Given the description of an element on the screen output the (x, y) to click on. 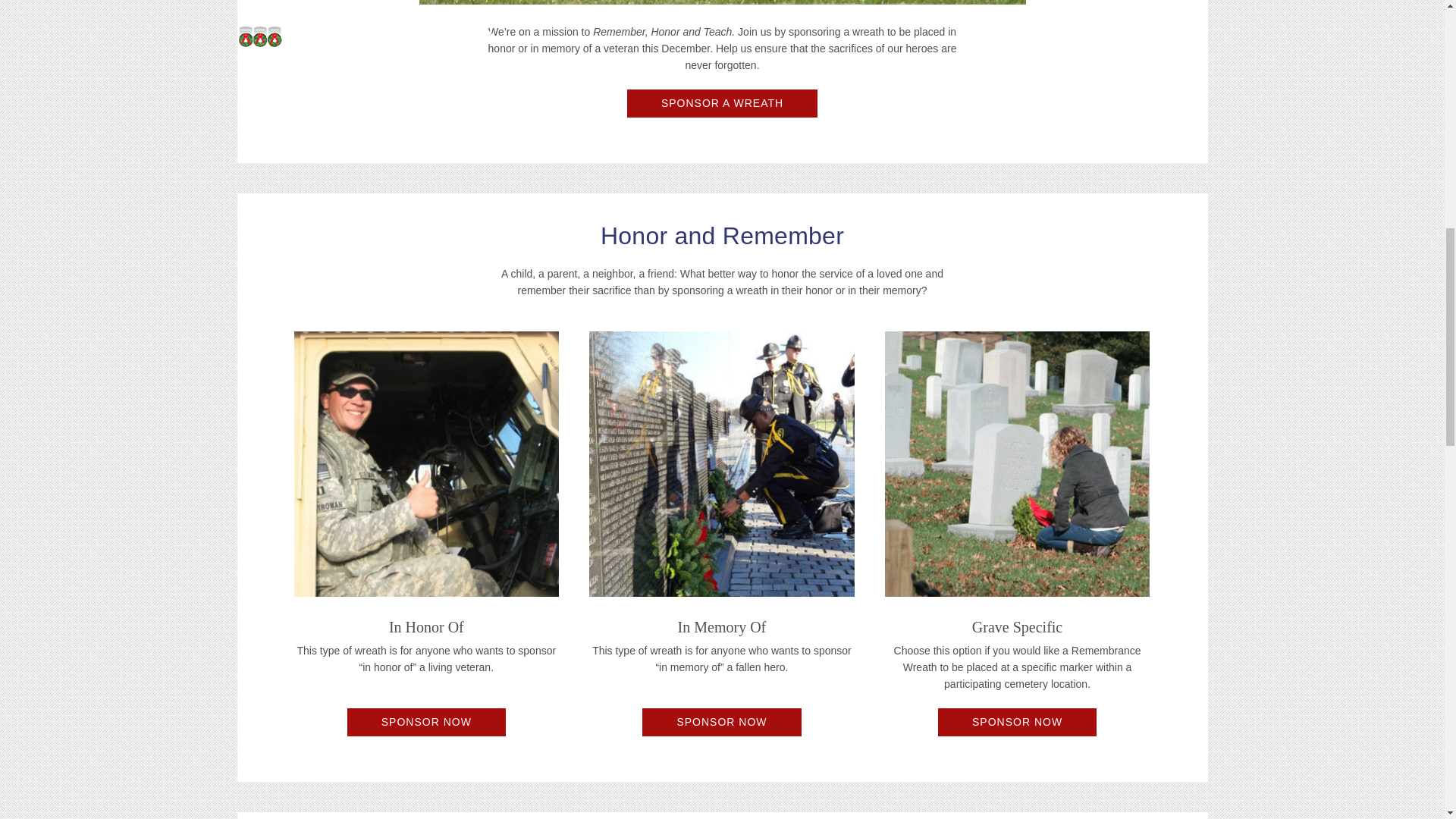
In Honor Of (426, 464)
In Memory Of (721, 464)
Grave Specific (1017, 464)
